Given the description of an element on the screen output the (x, y) to click on. 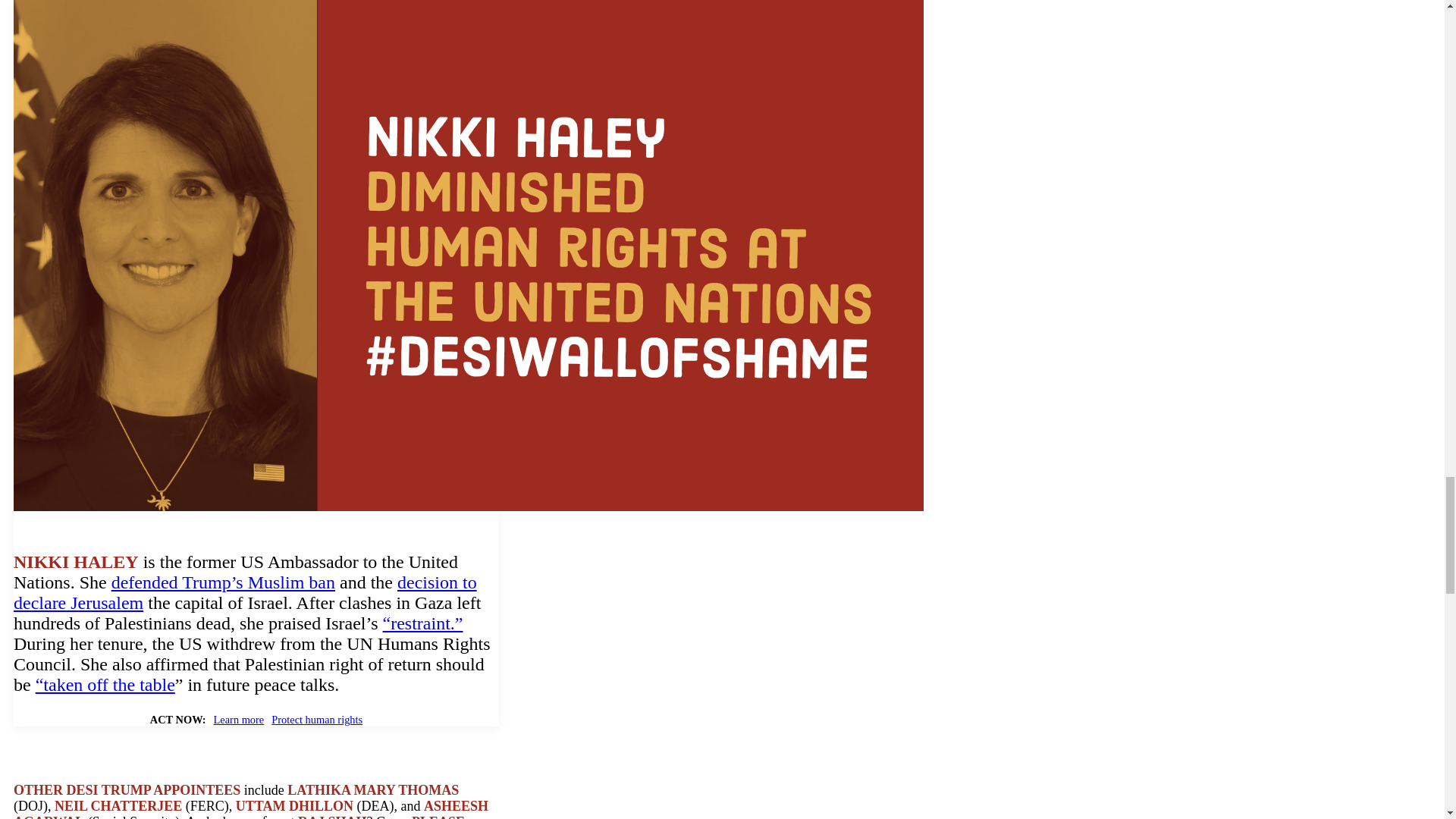
Learn more (239, 719)
decision to declare Jerusalem (245, 592)
Protect human rights (316, 719)
